Given the description of an element on the screen output the (x, y) to click on. 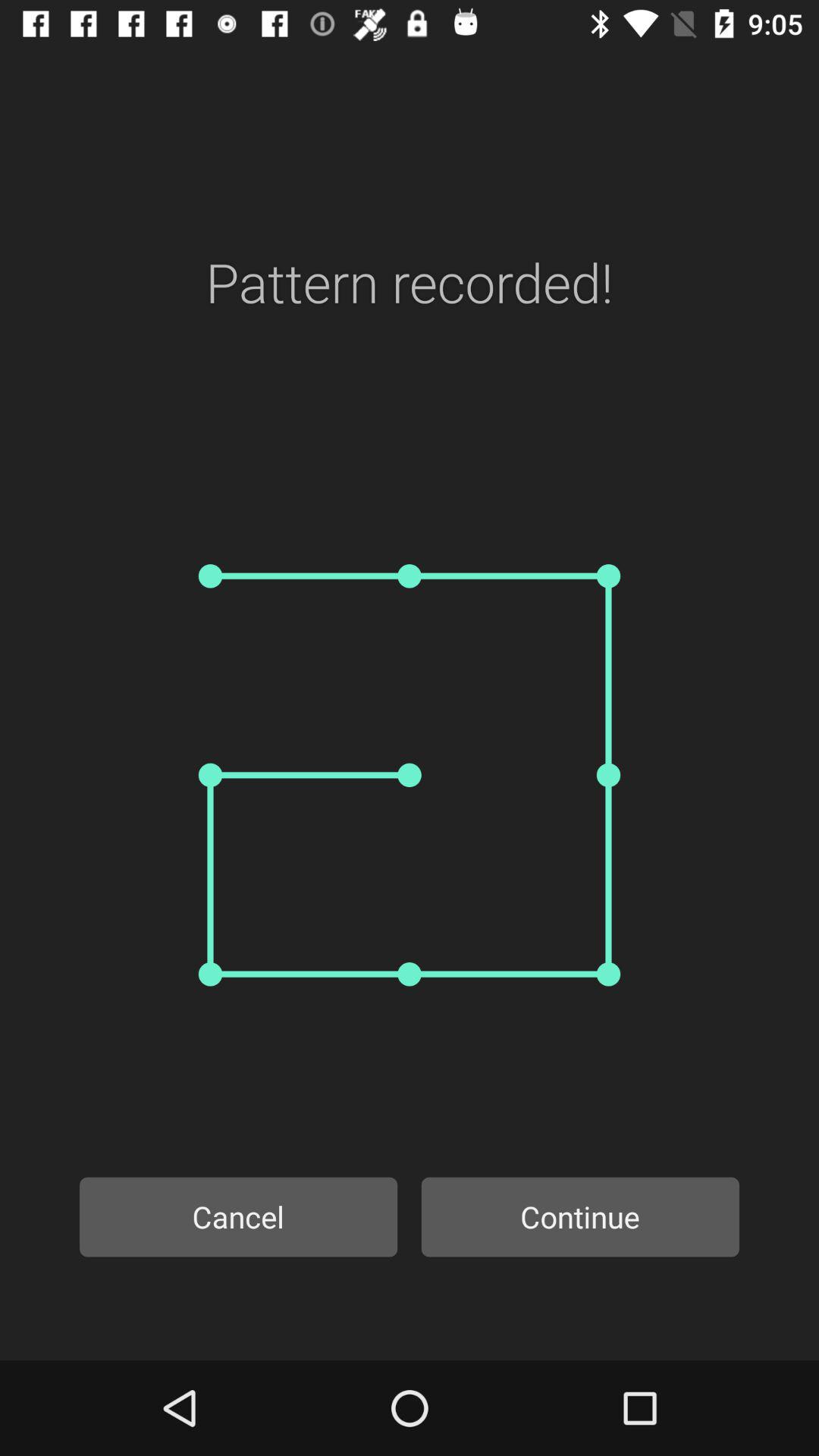
turn on item next to the cancel (580, 1216)
